Given the description of an element on the screen output the (x, y) to click on. 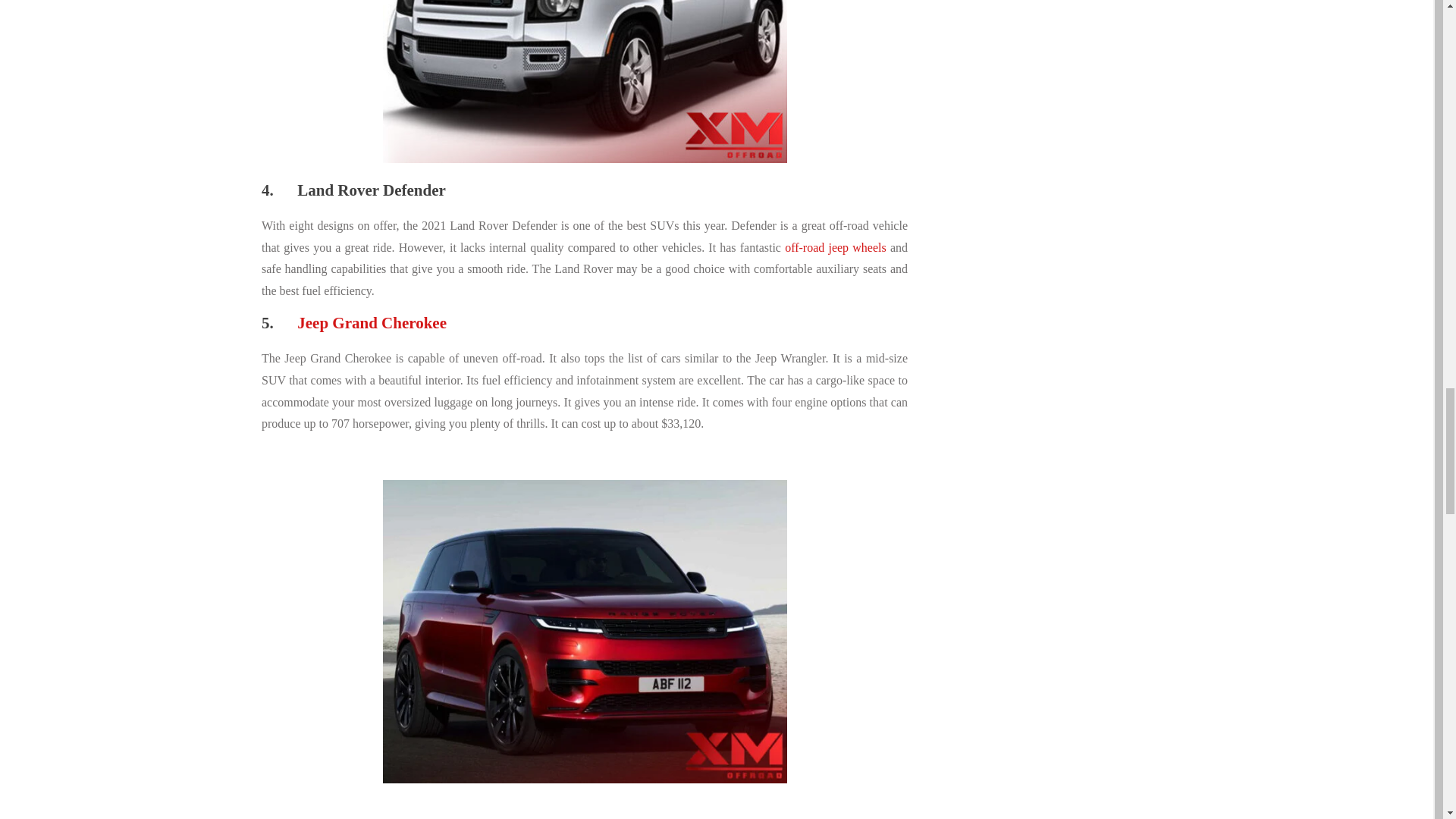
off-road jeep wheels (835, 246)
Jeep Grand Cherokee (371, 322)
